Given the description of an element on the screen output the (x, y) to click on. 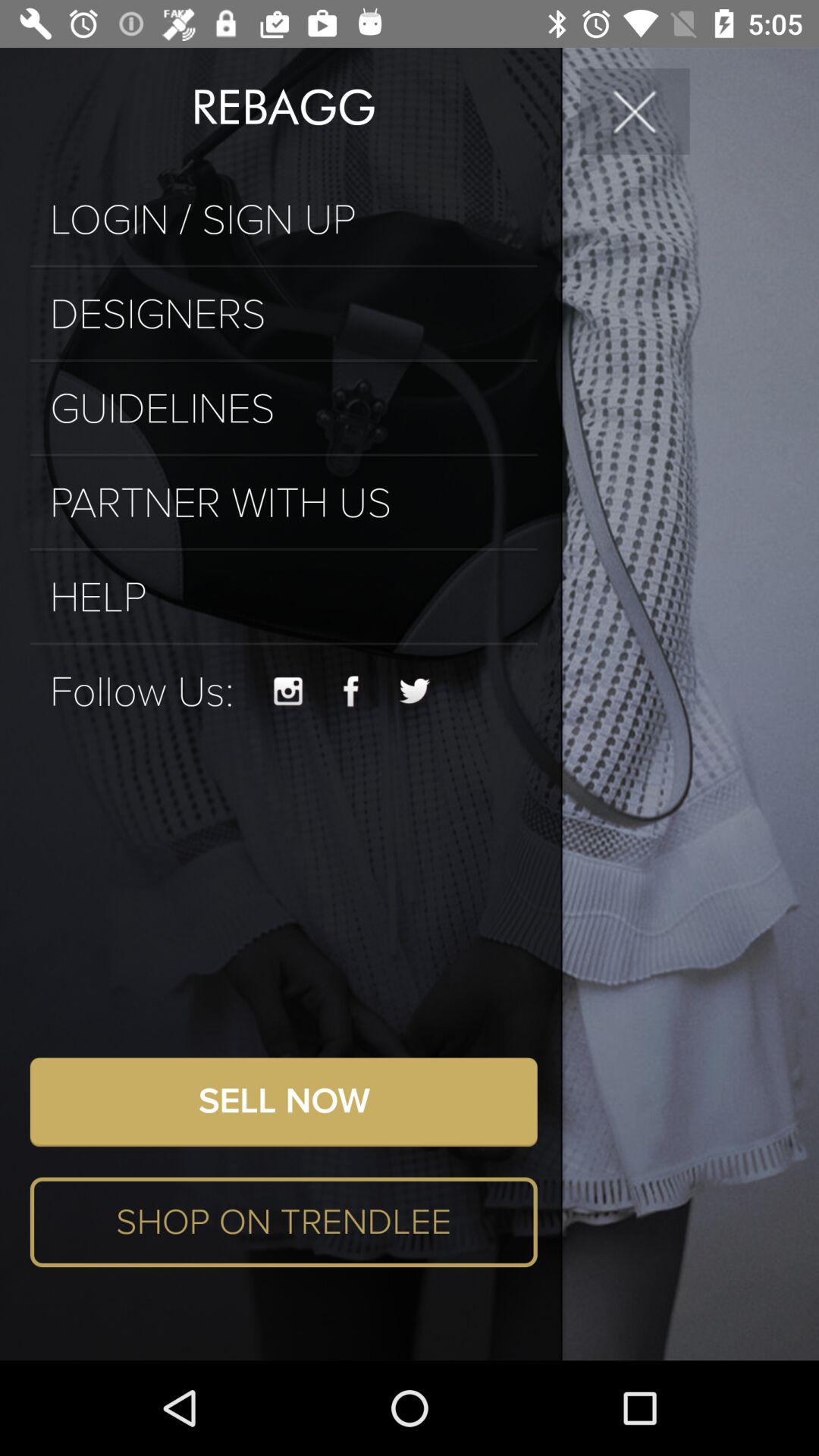
swipe until login / sign up icon (283, 220)
